Given the description of an element on the screen output the (x, y) to click on. 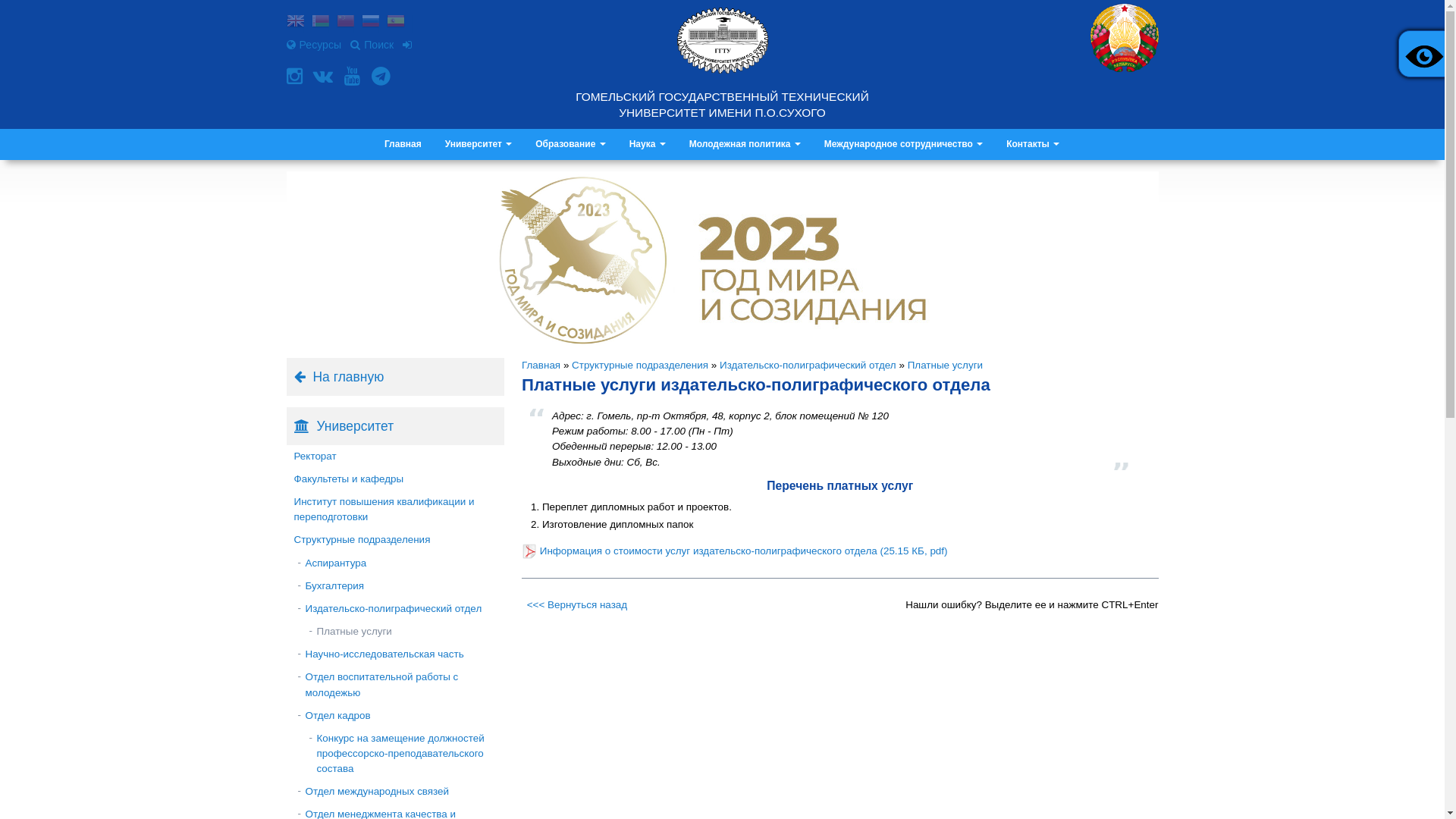
Visually impaired site version Element type: text (1421, 53)
Instagram Element type: hover (296, 75)
Russian Element type: hover (369, 22)
Spanish Element type: hover (395, 22)
YouTube Element type: hover (354, 75)
Telegram Element type: hover (382, 75)
English, static version of the site Element type: hover (295, 22)
Belarusian Element type: hover (319, 22)
Chinese (Simplified) Element type: hover (345, 22)
